Given the description of an element on the screen output the (x, y) to click on. 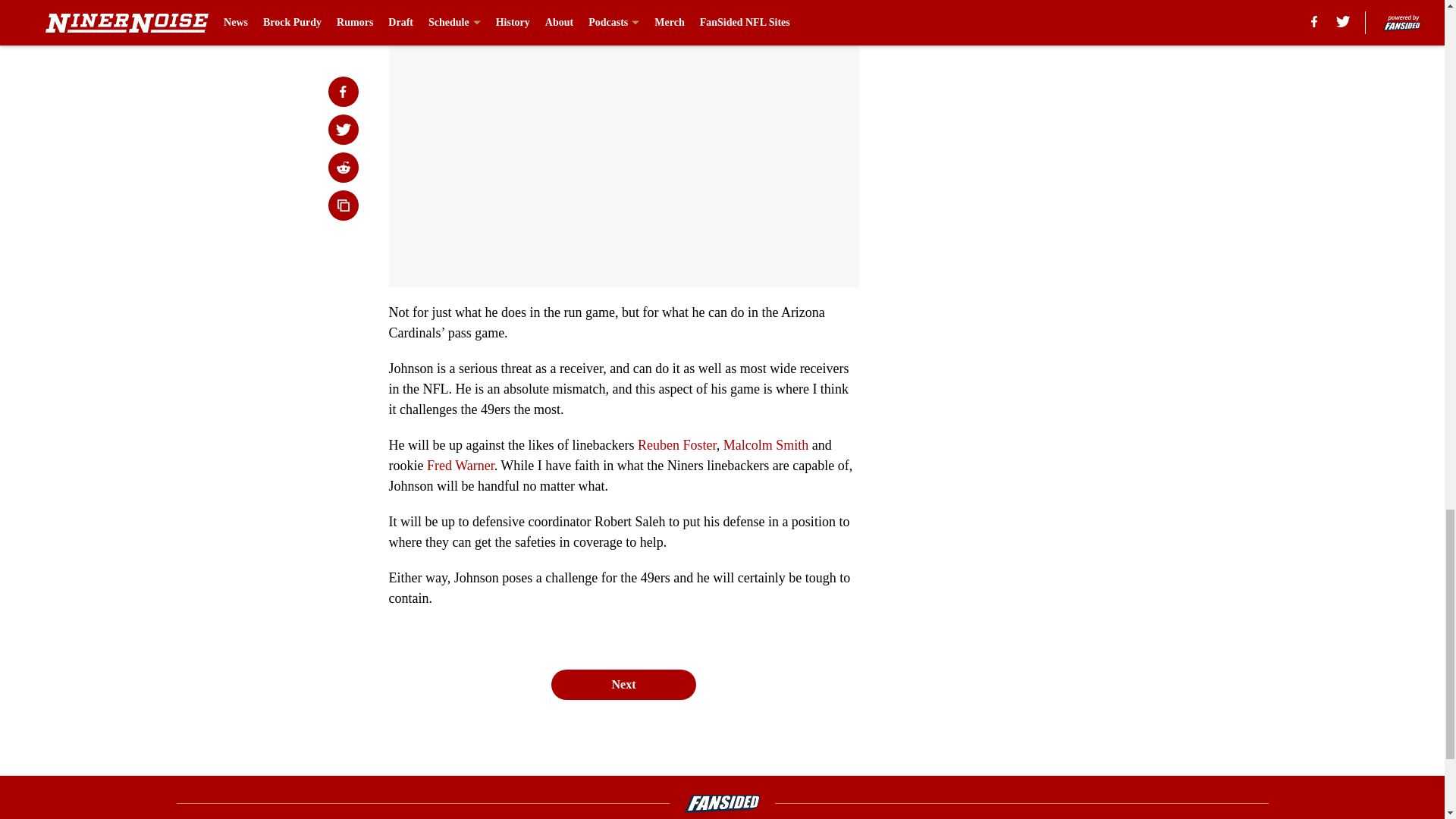
Next (622, 684)
Malcolm Smith (766, 444)
Reuben Foster (676, 444)
Fred Warner (460, 465)
